Given the description of an element on the screen output the (x, y) to click on. 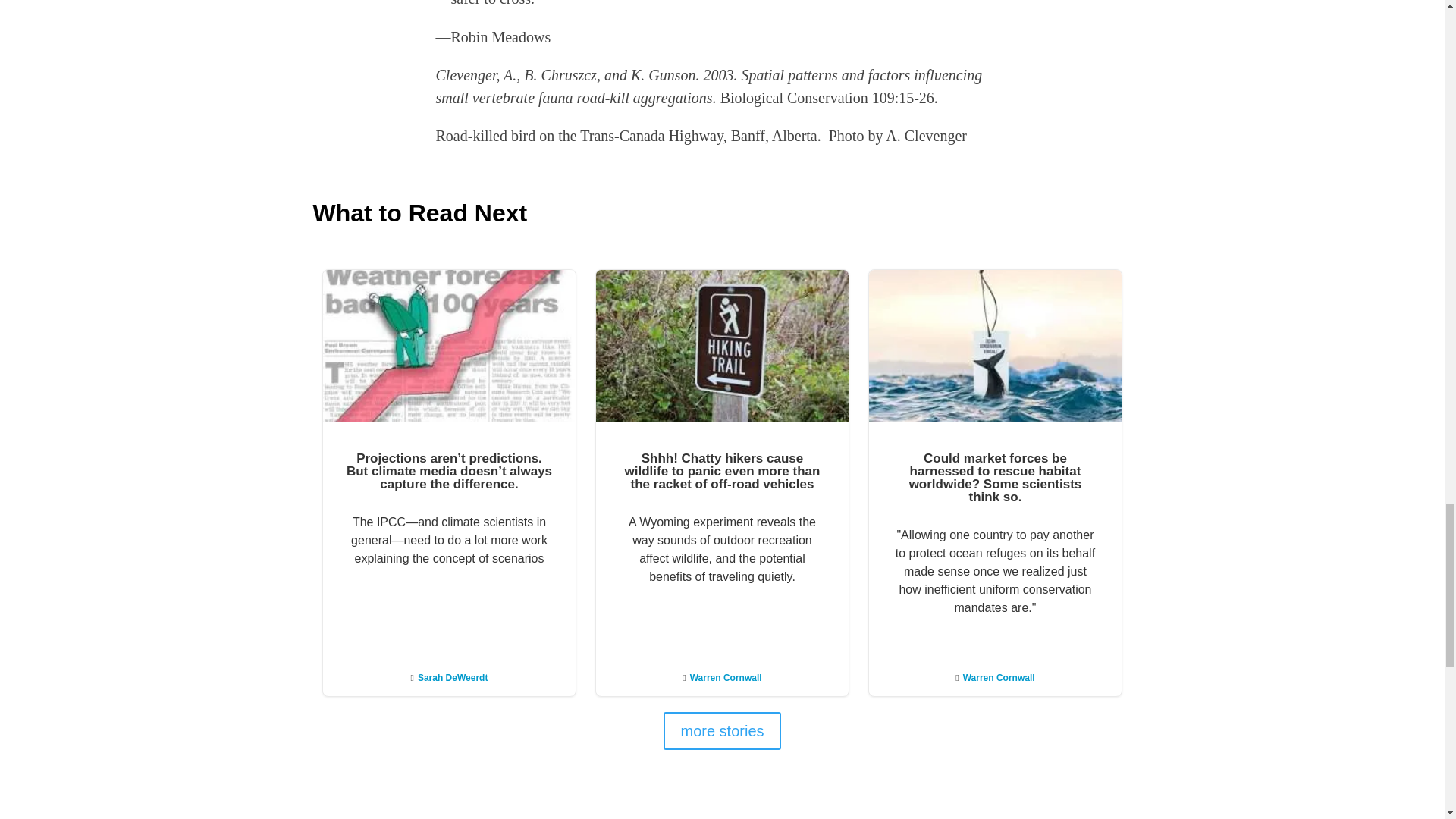
Posts by Warren Cornwall (725, 677)
Posts by Sarah DeWeerdt (452, 677)
Posts by Warren Cornwall (998, 677)
